Given the description of an element on the screen output the (x, y) to click on. 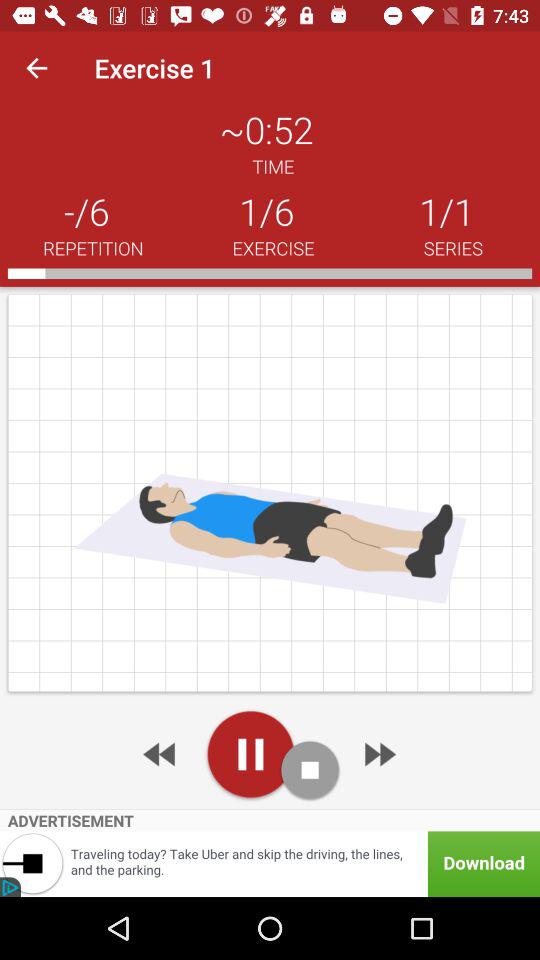
next (378, 754)
